Given the description of an element on the screen output the (x, y) to click on. 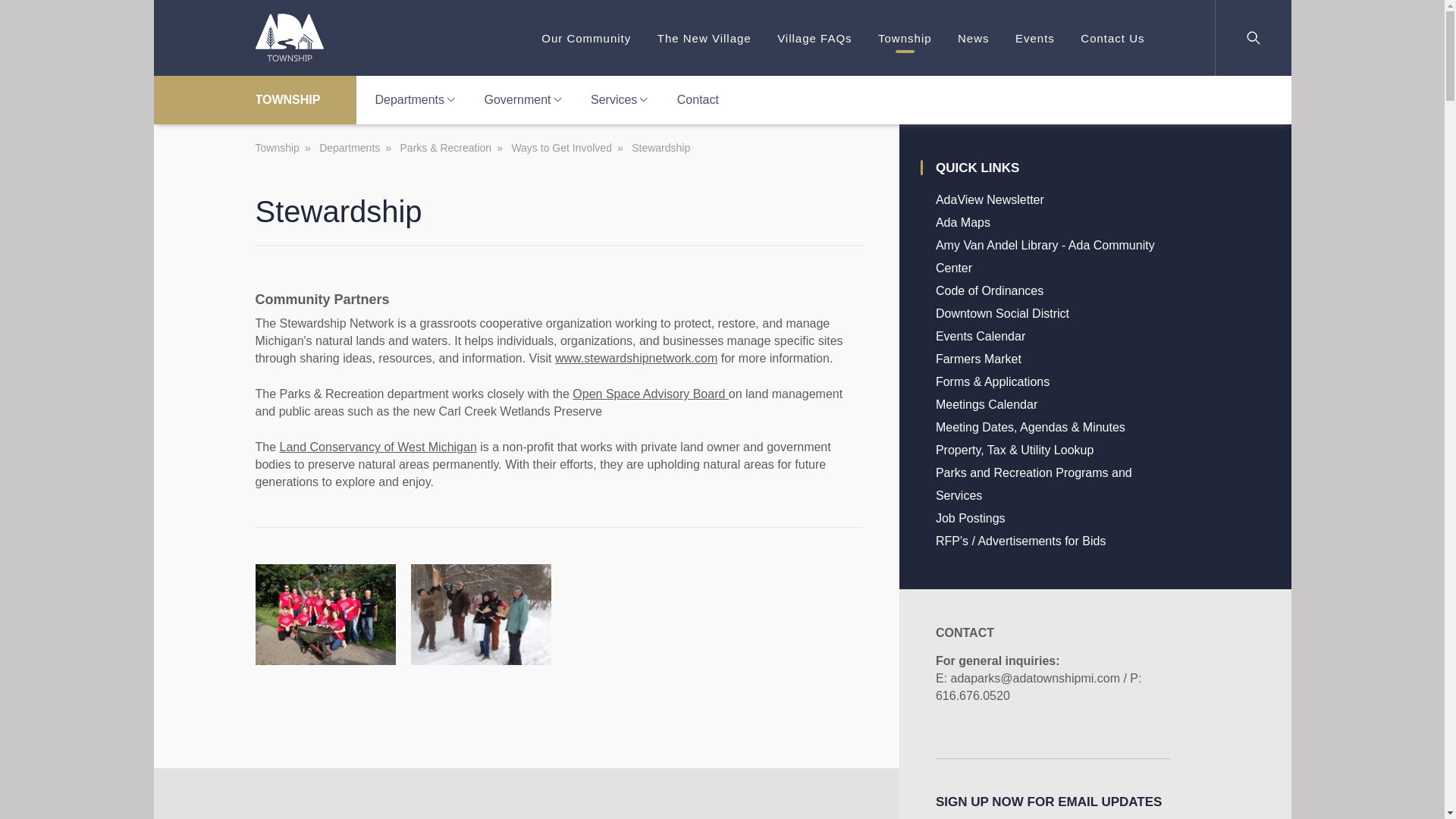
Village FAQs (814, 37)
Our Community (585, 37)
The New Village (704, 37)
